Given the description of an element on the screen output the (x, y) to click on. 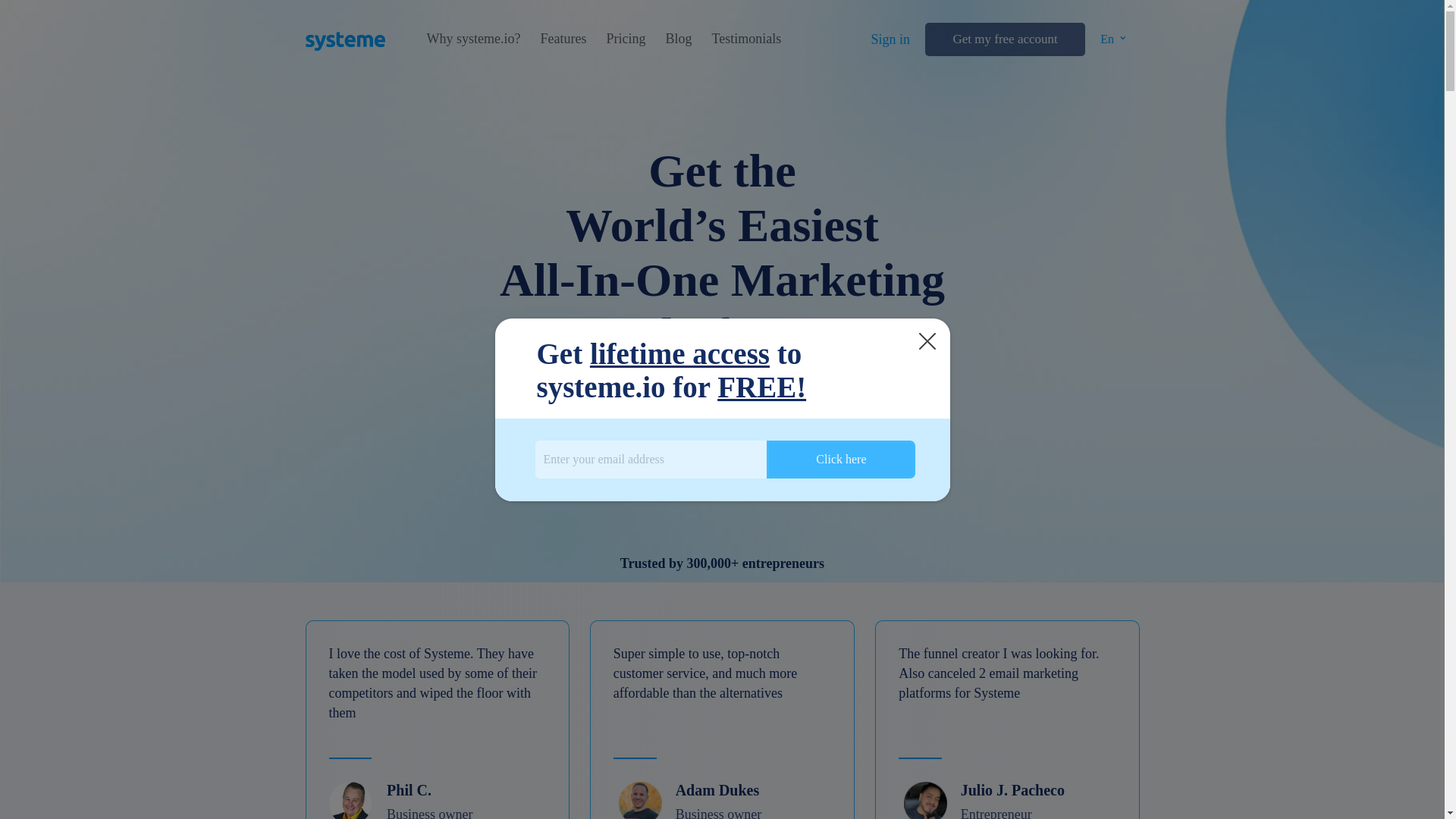
Pricing (625, 38)
Features (563, 38)
Get my free account (1004, 39)
Blog (678, 38)
Sign in (890, 39)
Testimonials (745, 38)
Why systeme.io? (472, 38)
